Given the description of an element on the screen output the (x, y) to click on. 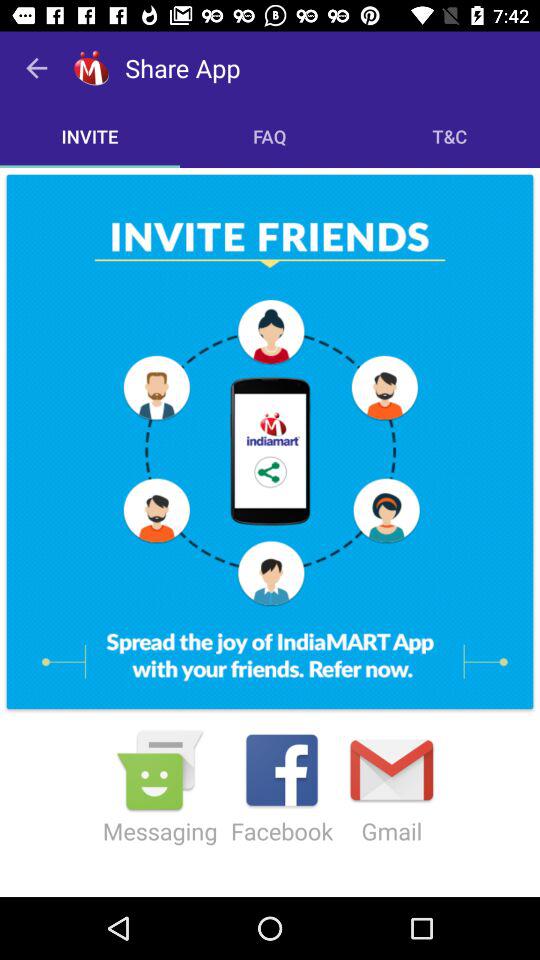
select item above the invite item (36, 68)
